Given the description of an element on the screen output the (x, y) to click on. 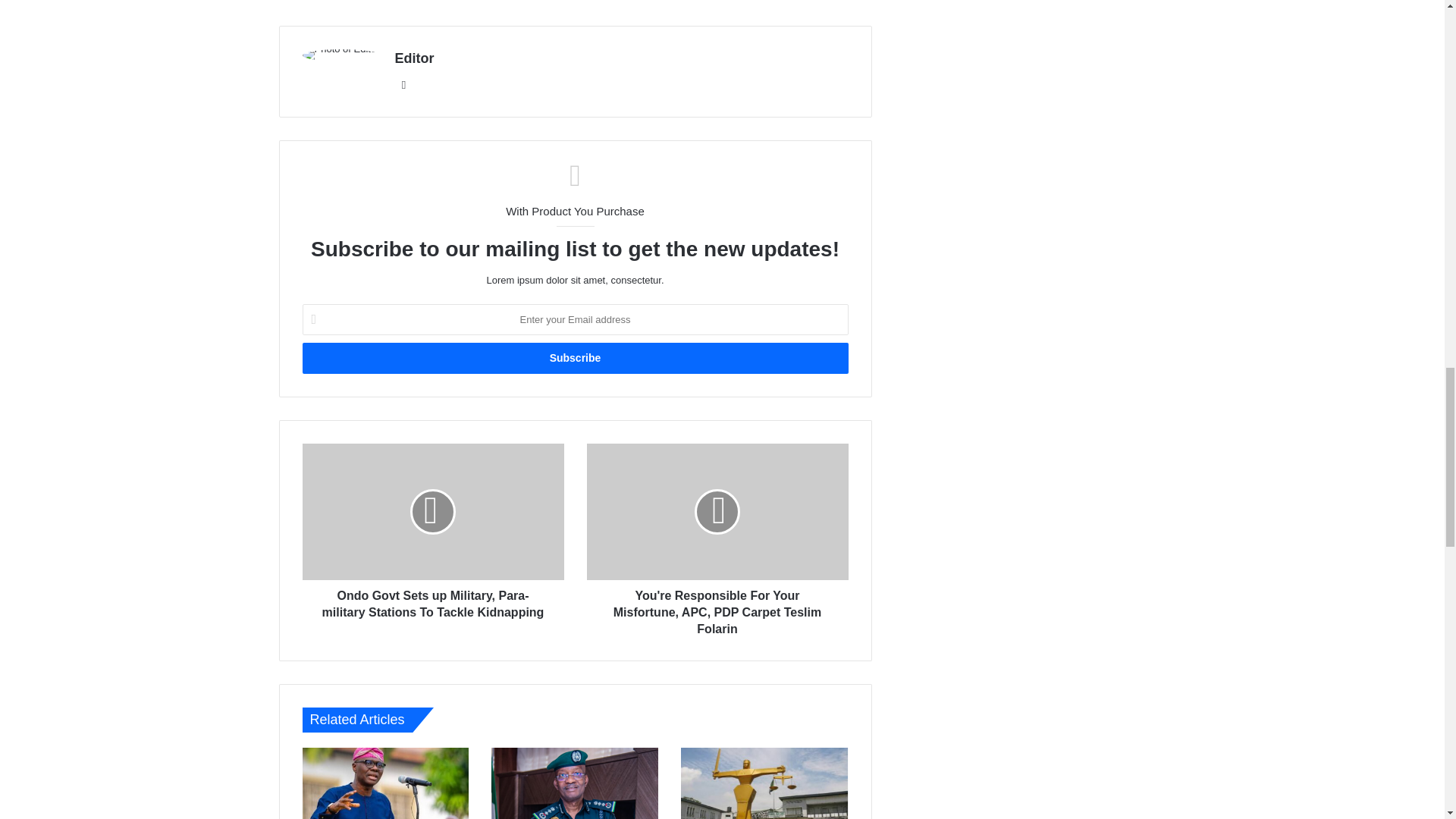
Subscribe (574, 358)
